Given the description of an element on the screen output the (x, y) to click on. 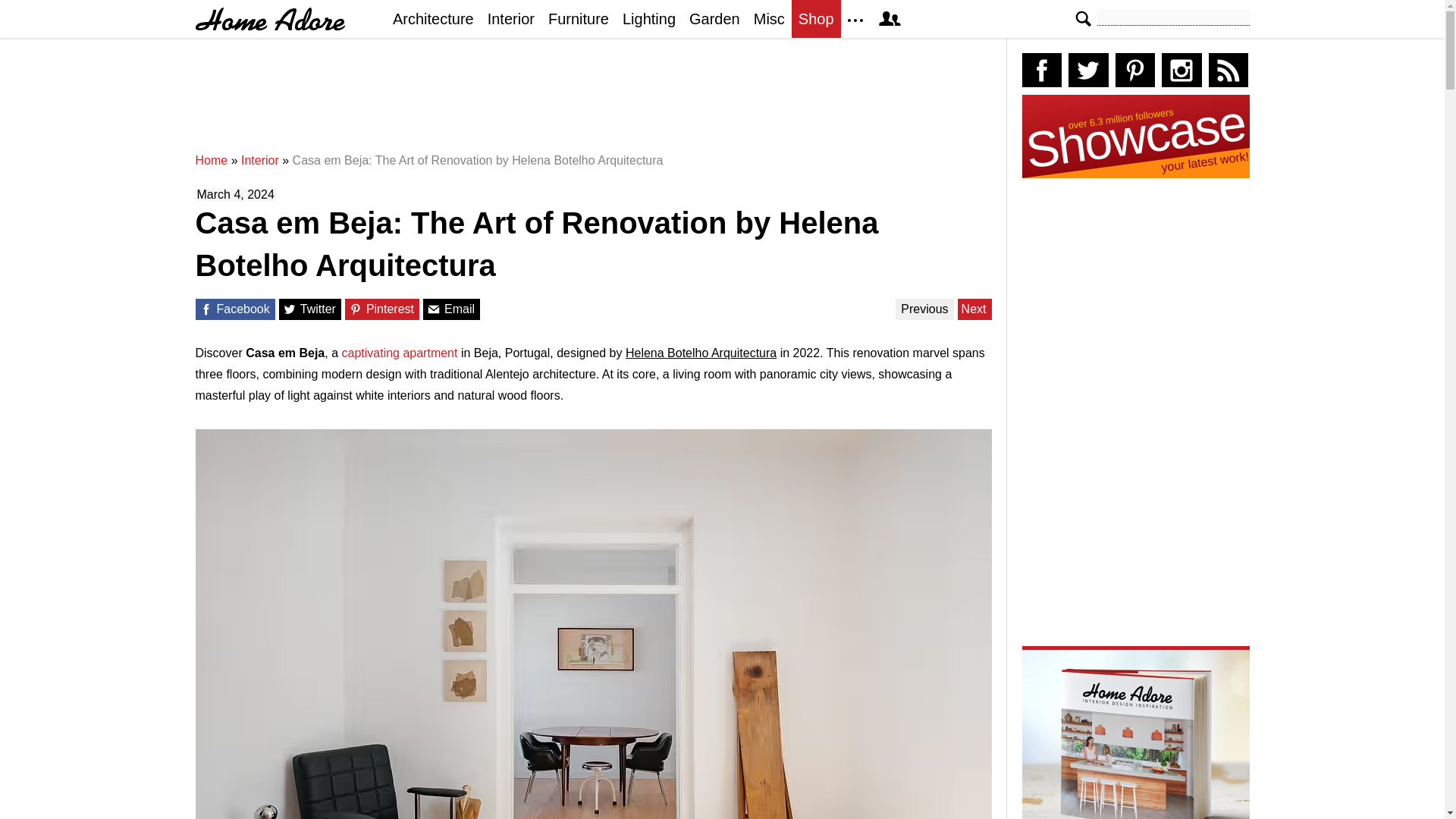
Share with a Friend (433, 309)
Home (211, 160)
Advertisement (596, 101)
Misc (769, 18)
Interior (260, 160)
Share on Pinterest (355, 309)
Share on Facebook (205, 309)
HomeAdore (270, 19)
HomeAdore (270, 19)
